Given the description of an element on the screen output the (x, y) to click on. 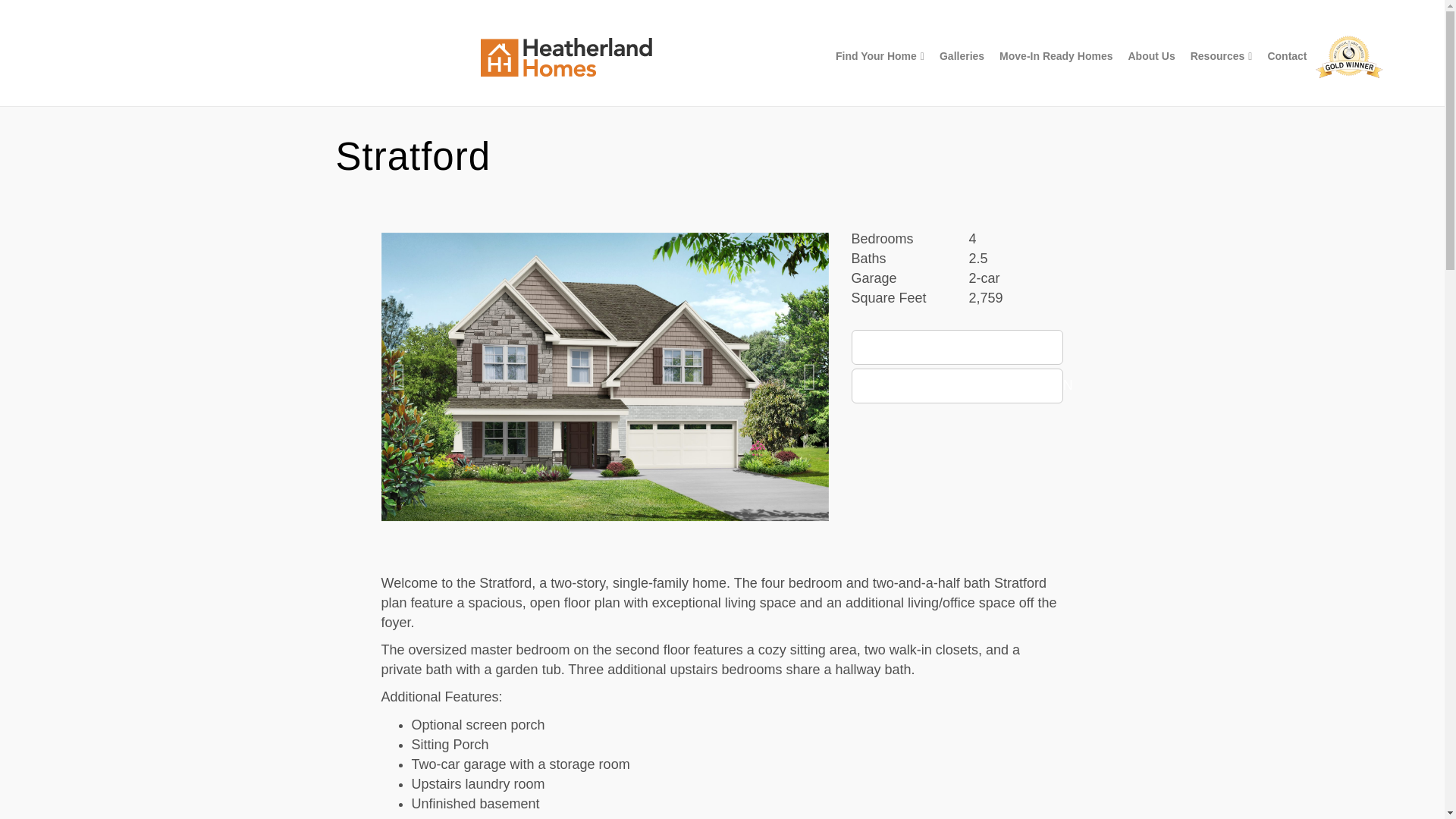
DOWNLOAD BROCHURE (956, 347)
Find Your Home (879, 56)
About Us (1150, 56)
REQUEST MORE INFORMATION (956, 385)
Move-In Ready Homes (1055, 56)
Contact (1286, 56)
Galleries (961, 56)
Resources (1221, 56)
